Given the description of an element on the screen output the (x, y) to click on. 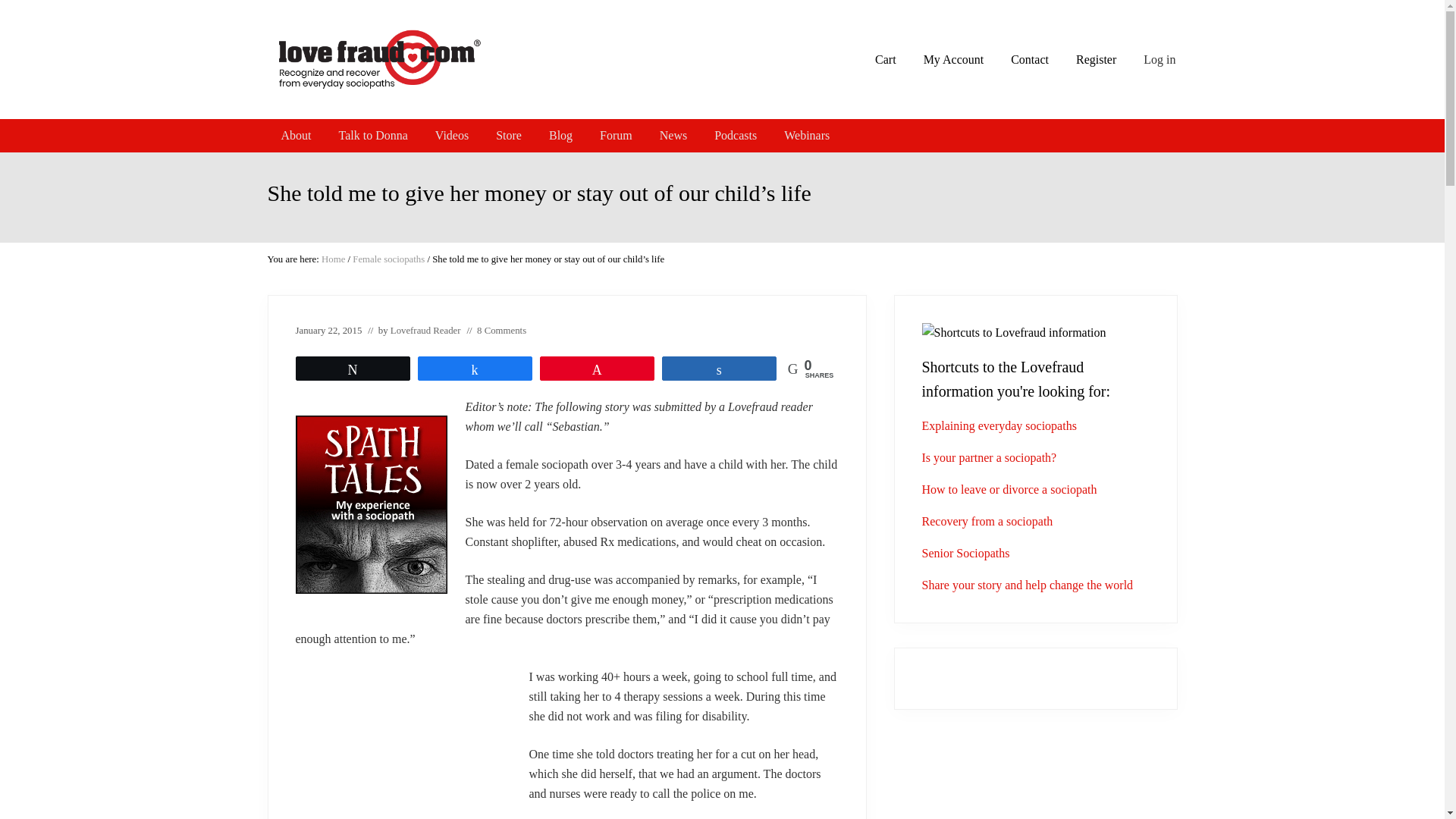
Talk to Donna (372, 135)
Podcasts (735, 135)
Cart (885, 59)
Videos (451, 135)
Home (333, 258)
Webinars (806, 135)
Forum (616, 135)
Log in (1161, 59)
Blog (560, 135)
My Account (953, 59)
